Given the description of an element on the screen output the (x, y) to click on. 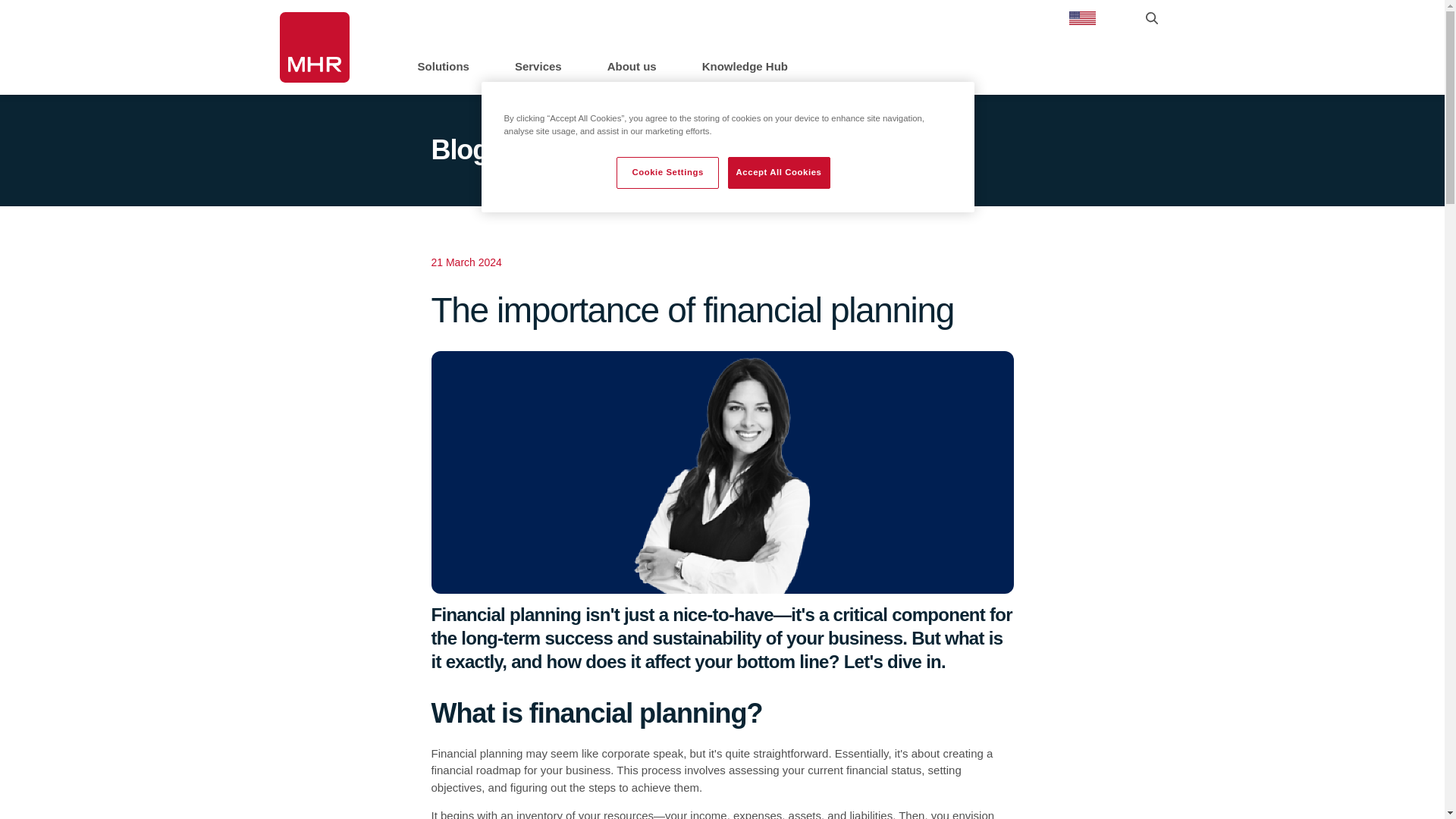
Knowledge Hub (744, 67)
Cookie Settings (667, 173)
Accept All Cookies (778, 173)
